Given the description of an element on the screen output the (x, y) to click on. 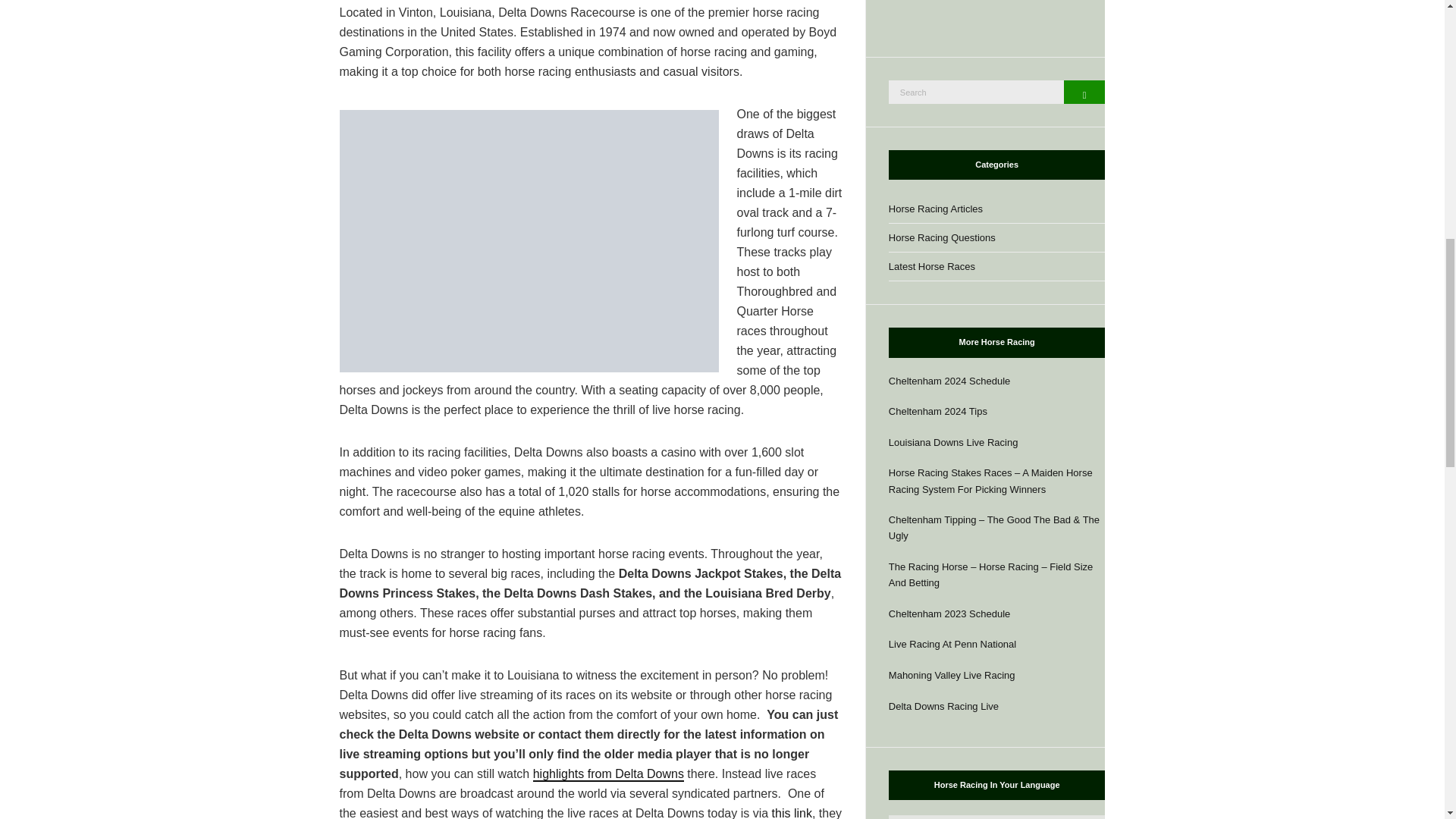
Delta Downs Racing Live 1 (529, 240)
this link (791, 812)
highlights from Delta Downs (608, 774)
